Given the description of an element on the screen output the (x, y) to click on. 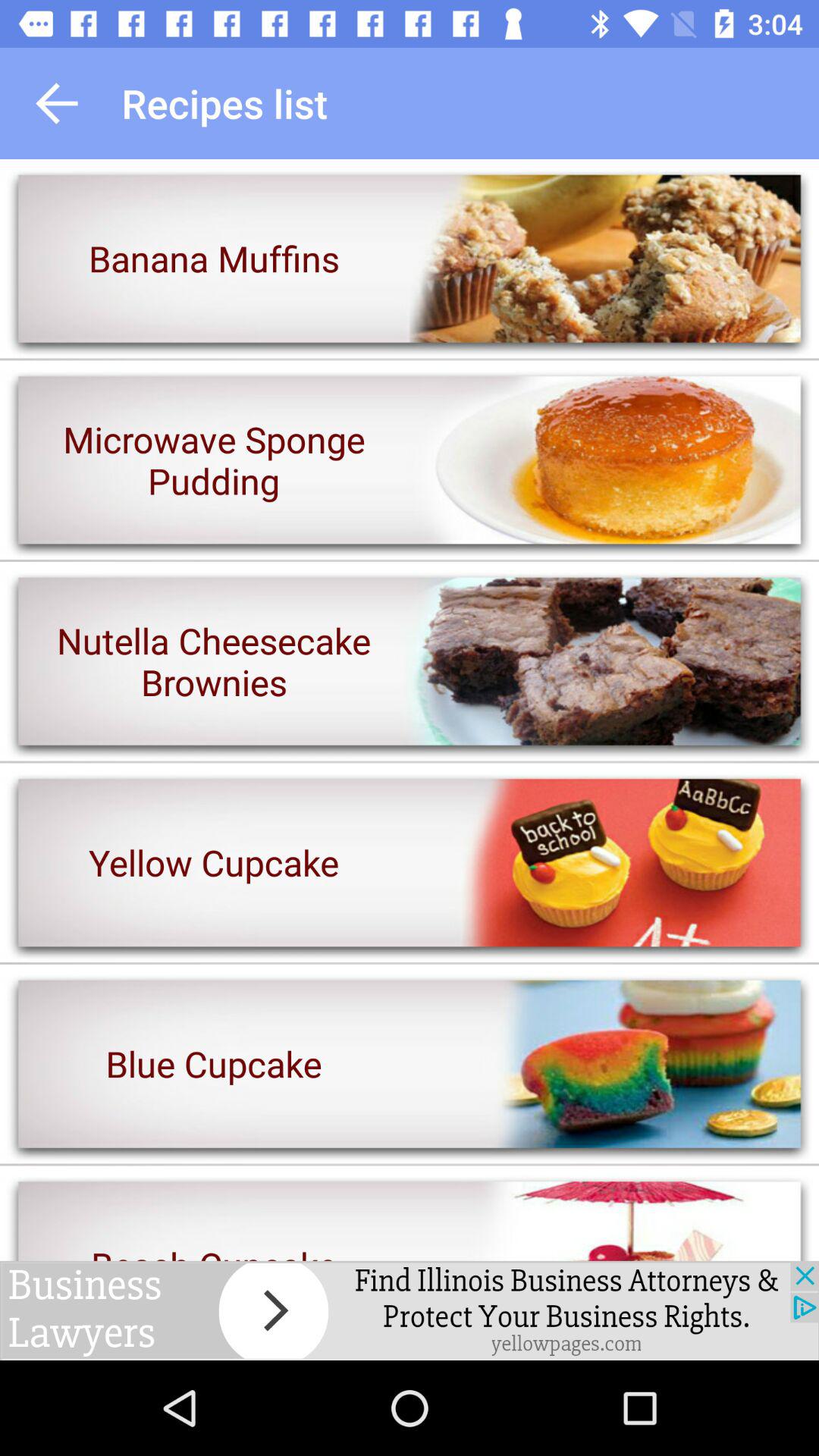
go back (56, 103)
